Given the description of an element on the screen output the (x, y) to click on. 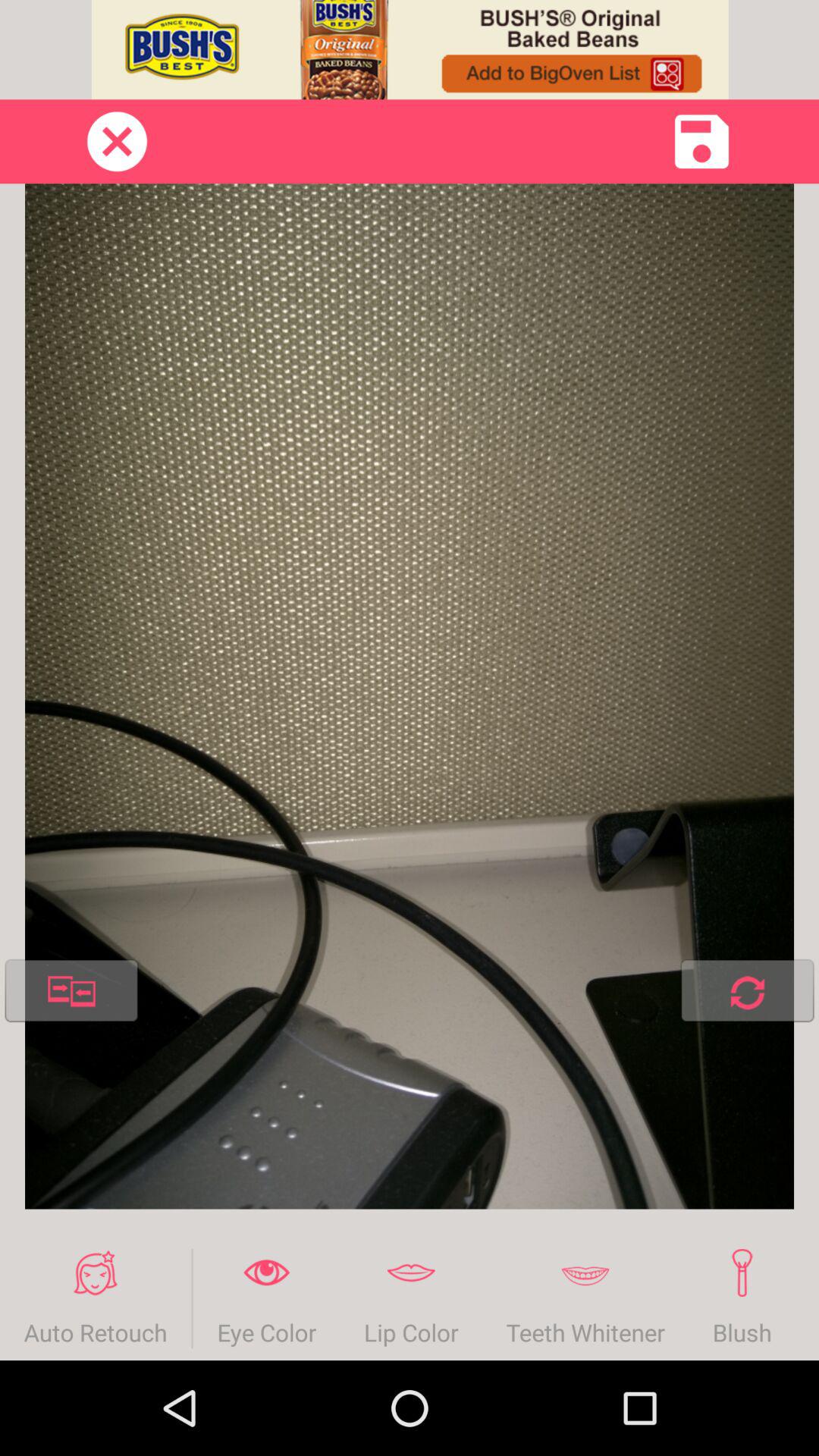
save (701, 141)
